Given the description of an element on the screen output the (x, y) to click on. 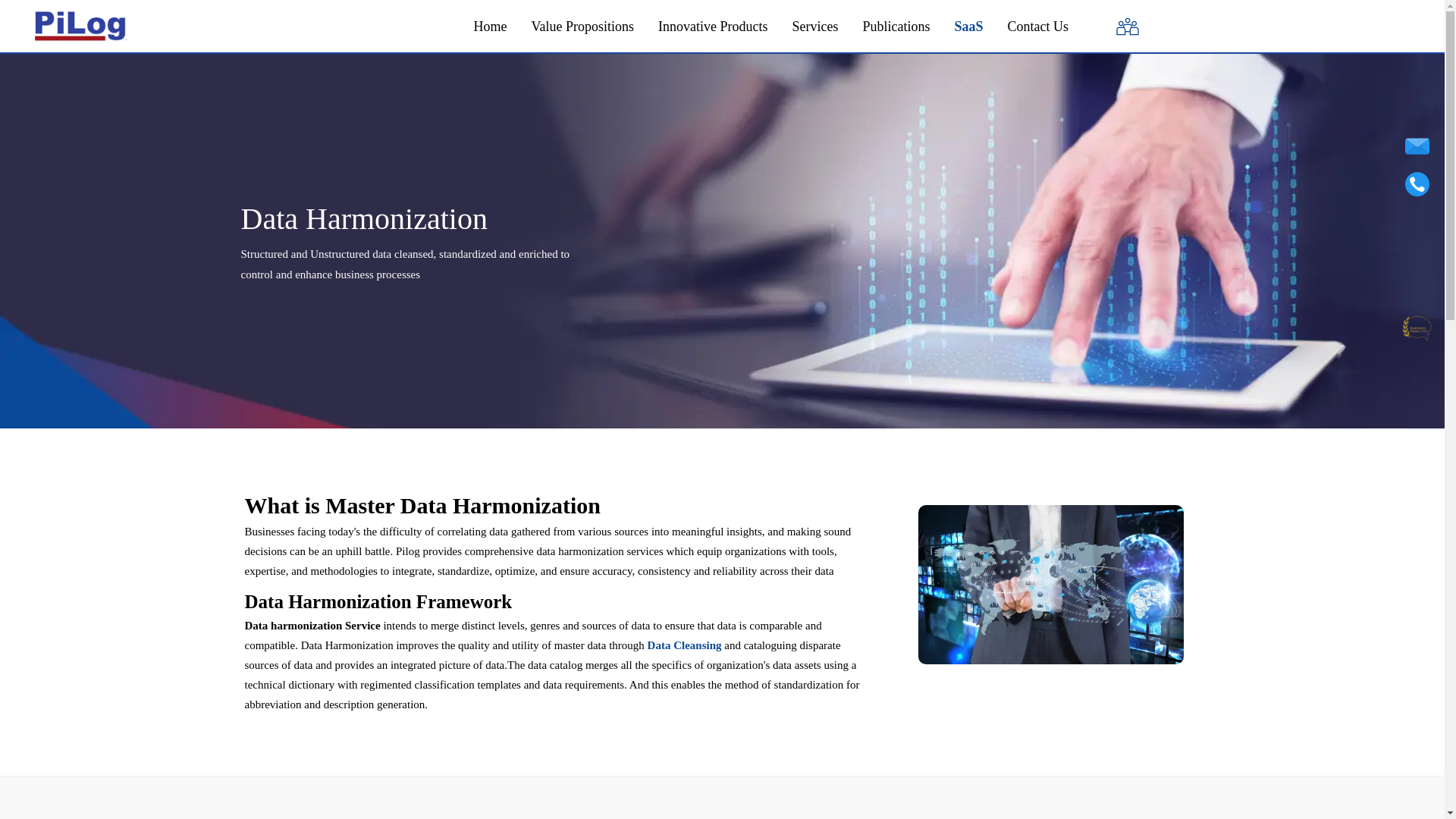
Innovative Products (712, 26)
Value Propositions (582, 26)
Services (815, 26)
